Given the description of an element on the screen output the (x, y) to click on. 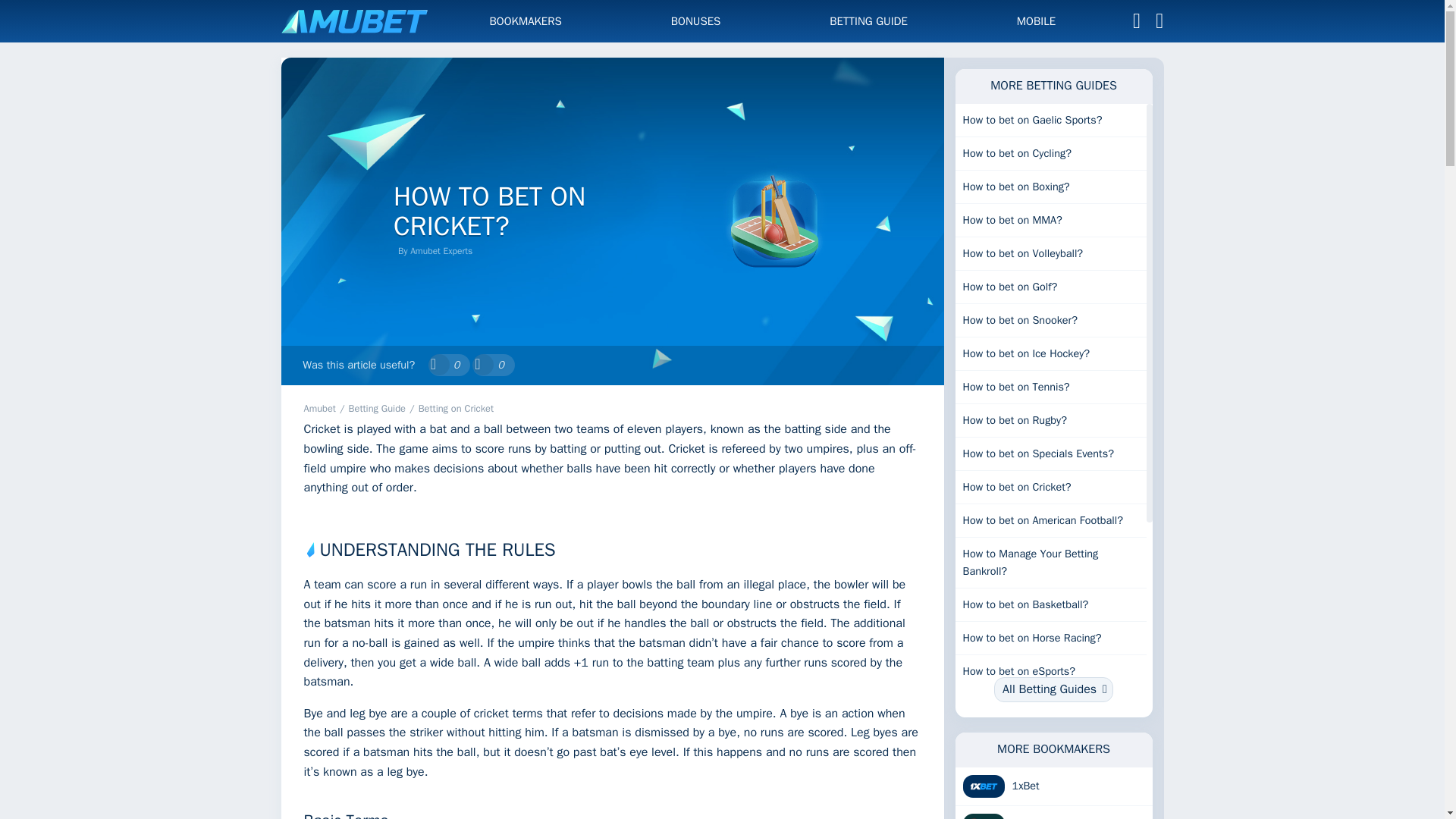
BETTING GUIDE (867, 20)
Mobile (1035, 20)
Bonuses (695, 20)
MOBILE (1035, 20)
BONUSES (695, 20)
BOOKMAKERS (525, 20)
Betting Guide (377, 408)
Bookmakers (525, 20)
Betting Guide (867, 20)
